Given the description of an element on the screen output the (x, y) to click on. 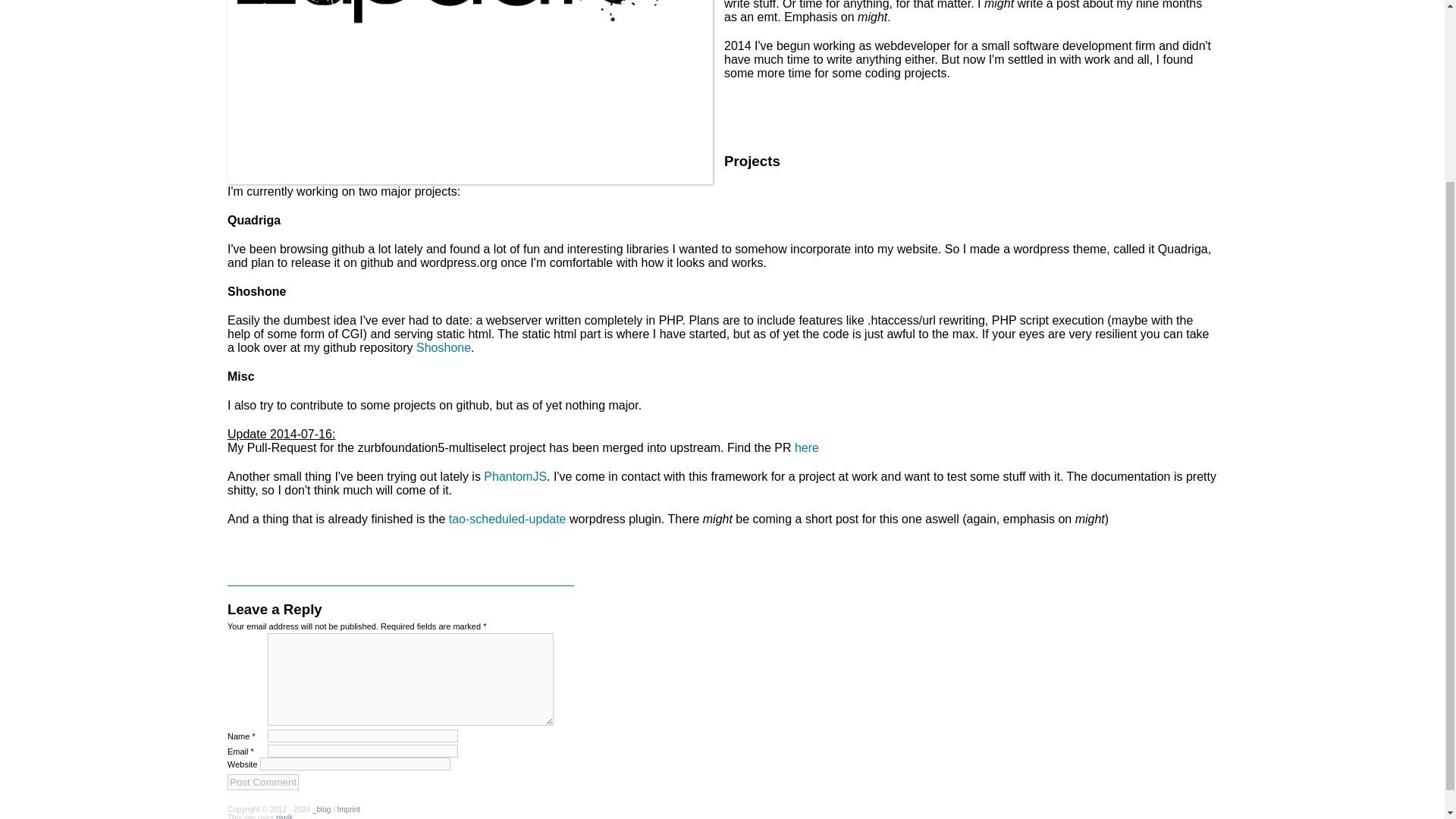
Post Comment (262, 781)
PhantomJS (515, 476)
Imprint (349, 809)
Imprint (349, 809)
PhantomJS (515, 476)
Post Comment (262, 781)
TAO Scheduled Update (507, 518)
Shoshone (443, 347)
tao-scheduled-update (507, 518)
here (806, 447)
Shoshone Webserver (443, 347)
